Given the description of an element on the screen output the (x, y) to click on. 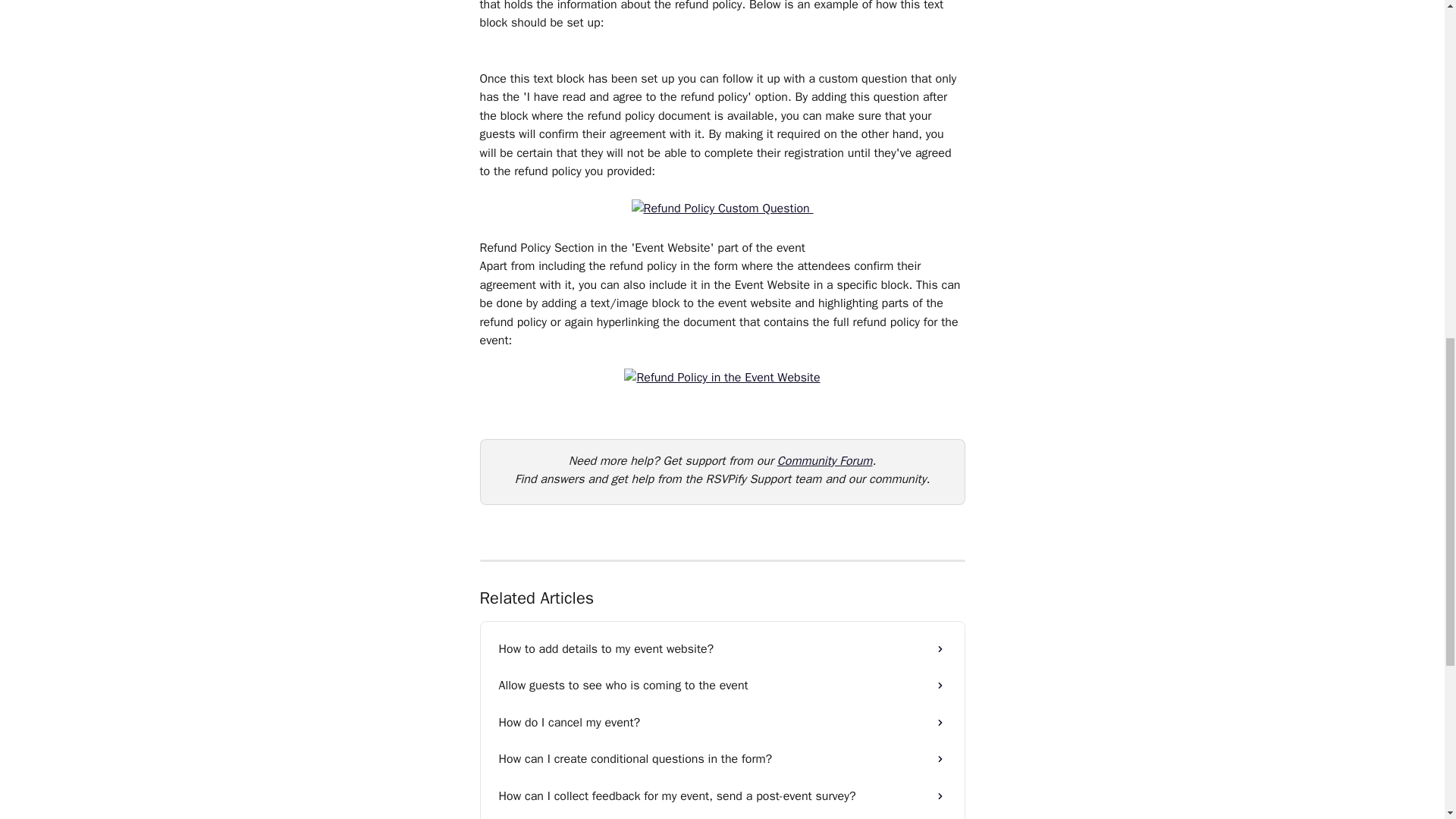
How do I cancel my event? (722, 722)
How can I create conditional questions in the form? (722, 759)
Community Forum (824, 460)
How to add details to my event website? (722, 648)
Allow guests to see who is coming to the event (722, 685)
